Given the description of an element on the screen output the (x, y) to click on. 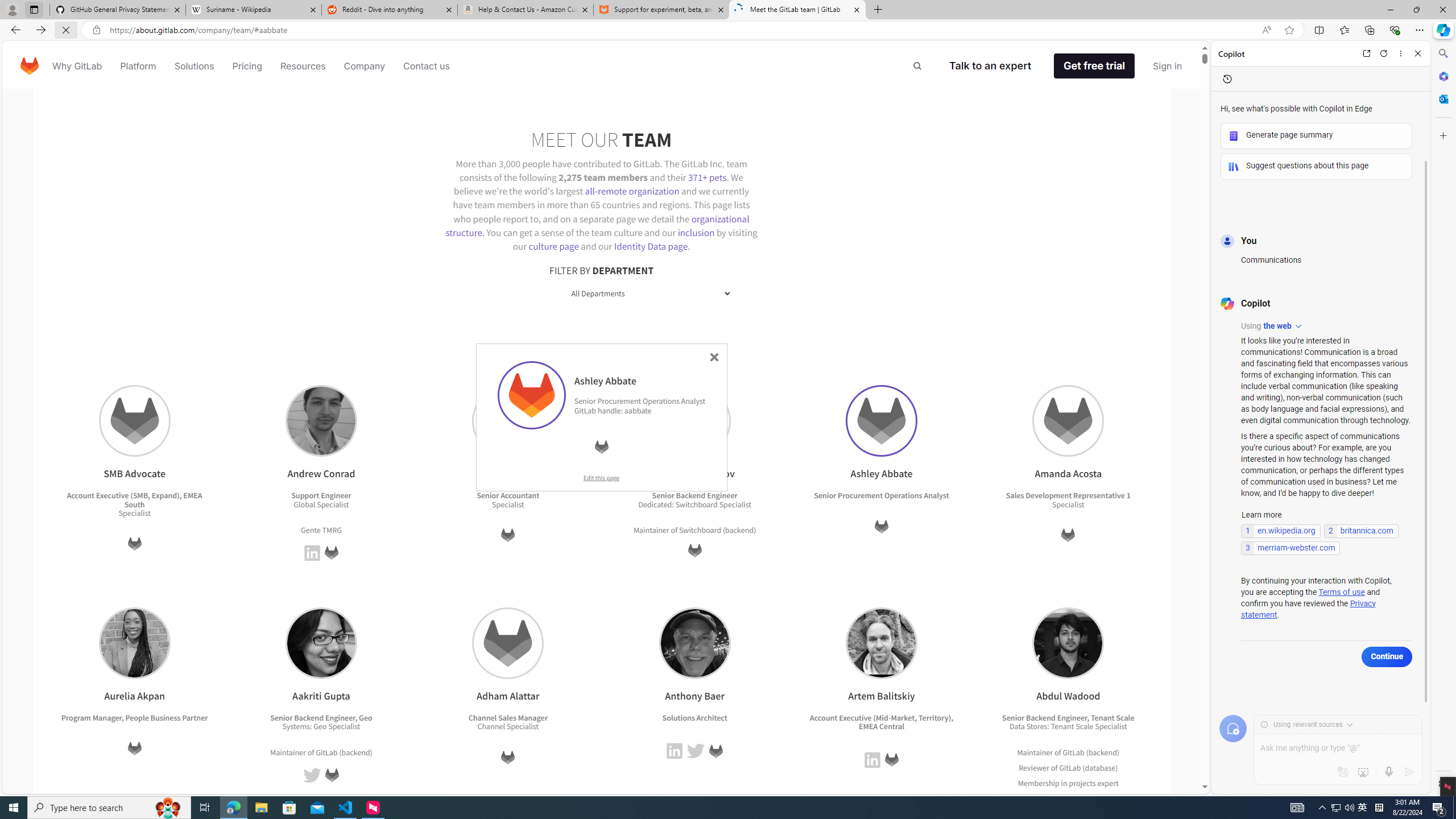
Ashley Abbate (880, 420)
Anthony Baer (695, 642)
Pricing (246, 65)
Amanda Acosta (1067, 420)
Help & Contact Us - Amazon Customer Service - Sleeping (525, 9)
GitLab (890, 759)
Contact us (426, 65)
Gente TMRG (321, 529)
Andrew Conrad (320, 420)
Abdul Wadood (1067, 642)
Membership in groups (1056, 797)
Program Manager, People Business Partner (134, 717)
Talk to an expert (990, 65)
